Given the description of an element on the screen output the (x, y) to click on. 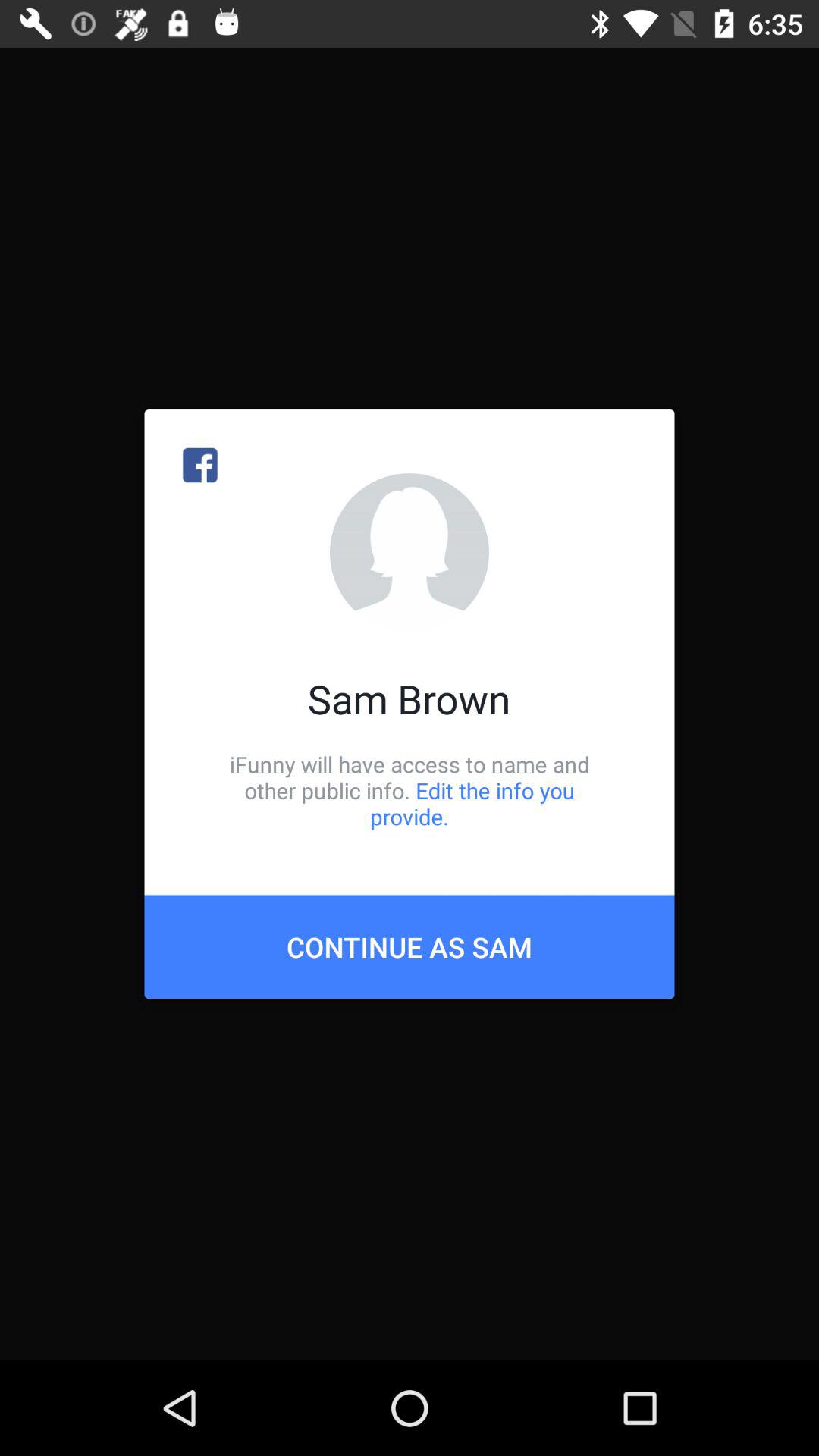
tap the item above continue as sam icon (409, 790)
